Given the description of an element on the screen output the (x, y) to click on. 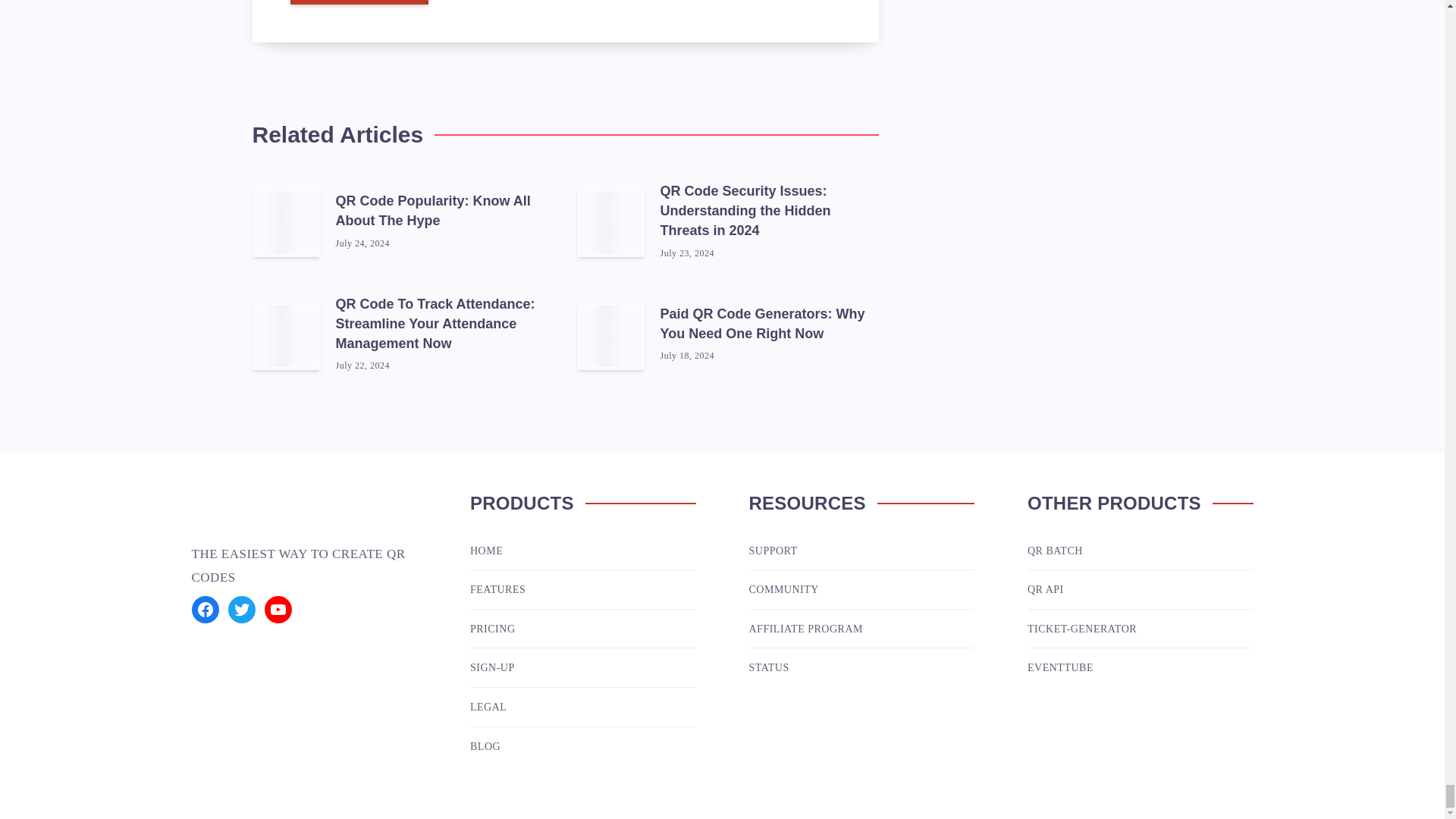
Post Comment (358, 2)
